Given the description of an element on the screen output the (x, y) to click on. 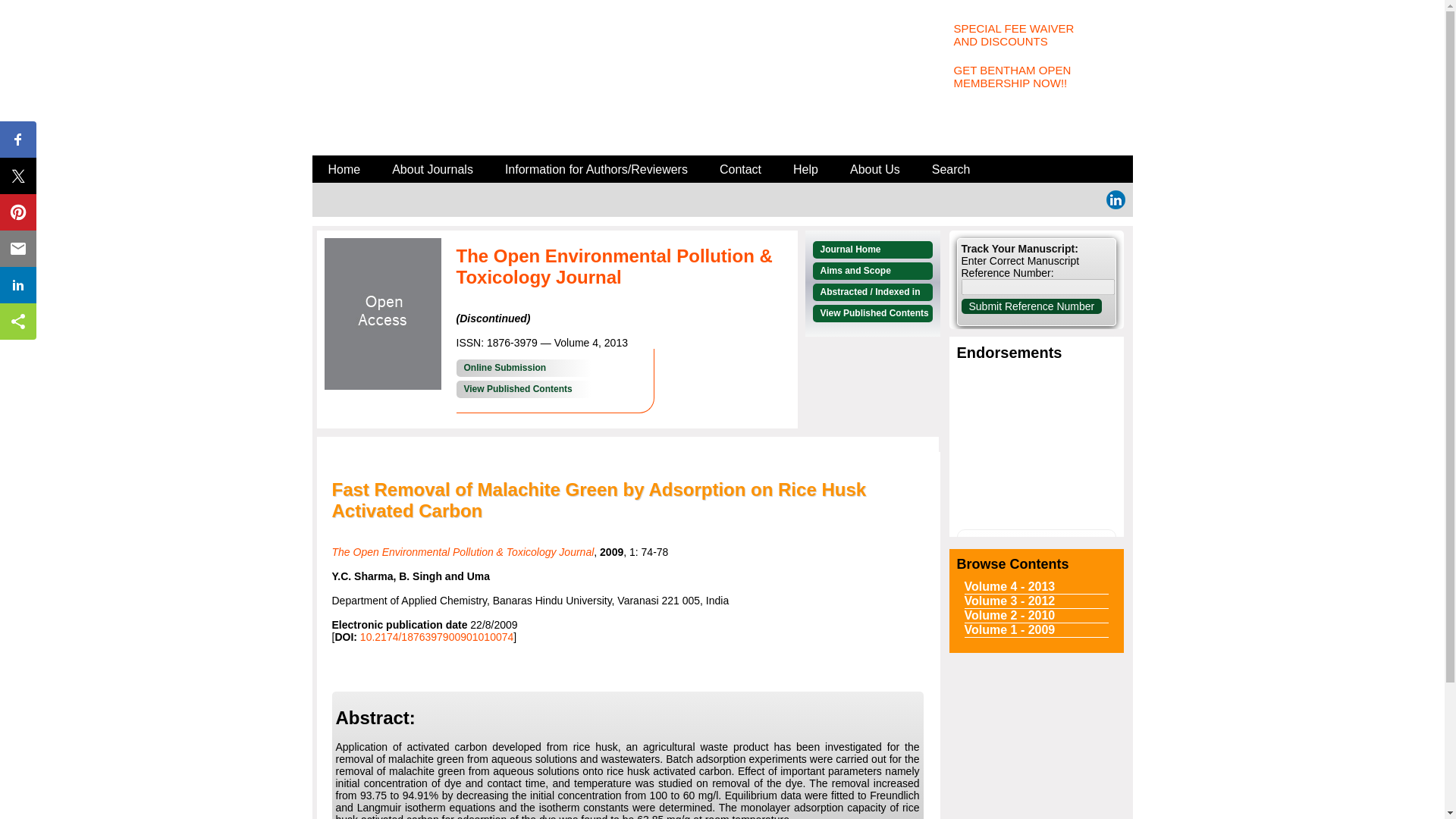
Contact (1036, 37)
Online Submission (740, 169)
View Published Contents (524, 367)
Help (524, 389)
Home (804, 169)
About Us (344, 169)
Search (874, 169)
About Journals (1036, 78)
